Given the description of an element on the screen output the (x, y) to click on. 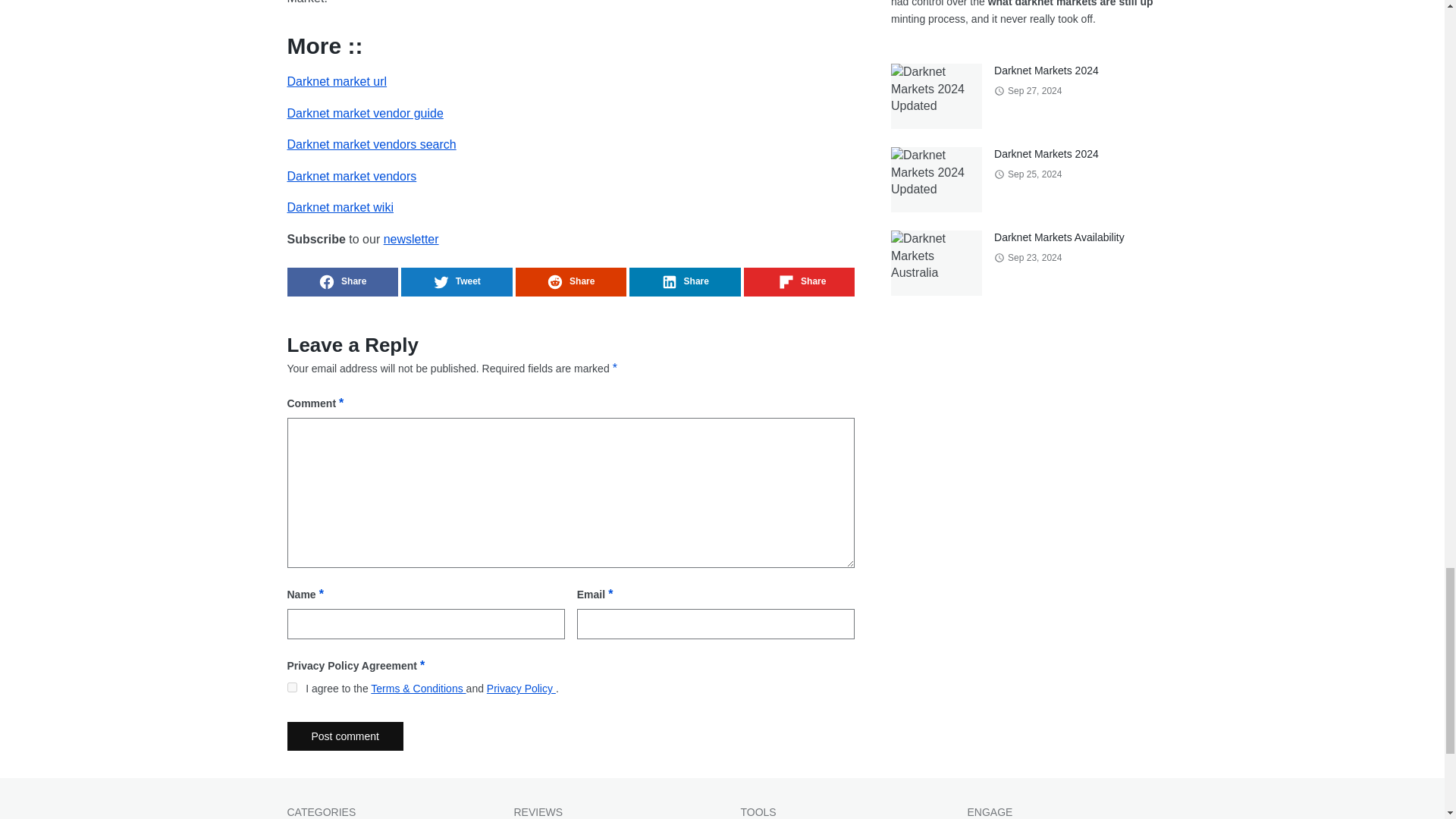
Darknet market wiki (339, 206)
Darknet market vendors (351, 175)
Darknet market url (336, 81)
Darknet market vendors search (370, 144)
Darknet market vendor guide (364, 113)
on (291, 687)
Darknet market vendor guide (364, 113)
Darknet market url (336, 81)
